Given the description of an element on the screen output the (x, y) to click on. 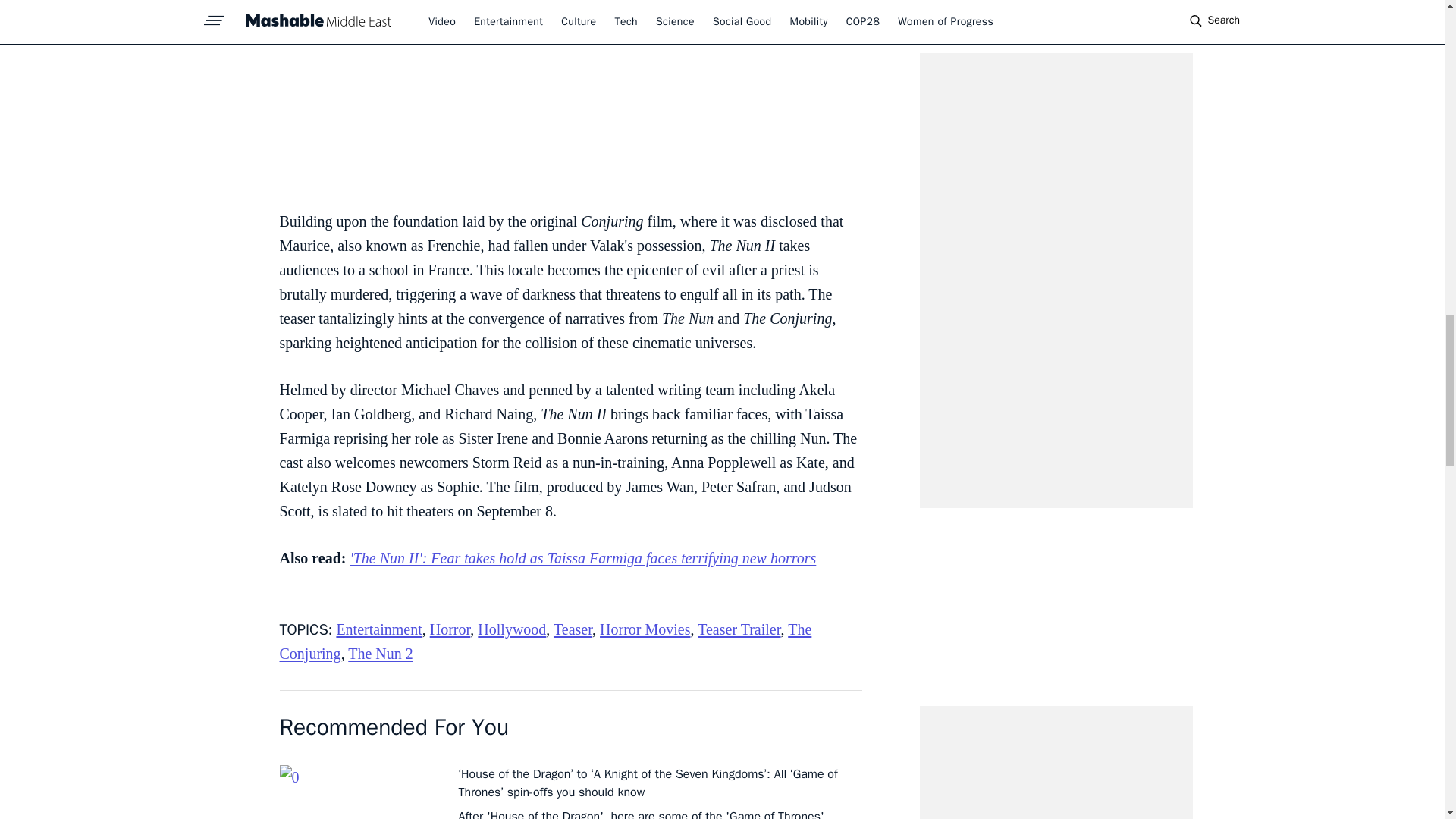
The Conjuring (544, 640)
Entertainment (379, 629)
The Nun 2 (380, 653)
Horror (449, 629)
Teaser (572, 629)
Teaser Trailer (738, 629)
YouTube video player (570, 97)
Horror Movies (644, 629)
Hollywood (511, 629)
